Given the description of an element on the screen output the (x, y) to click on. 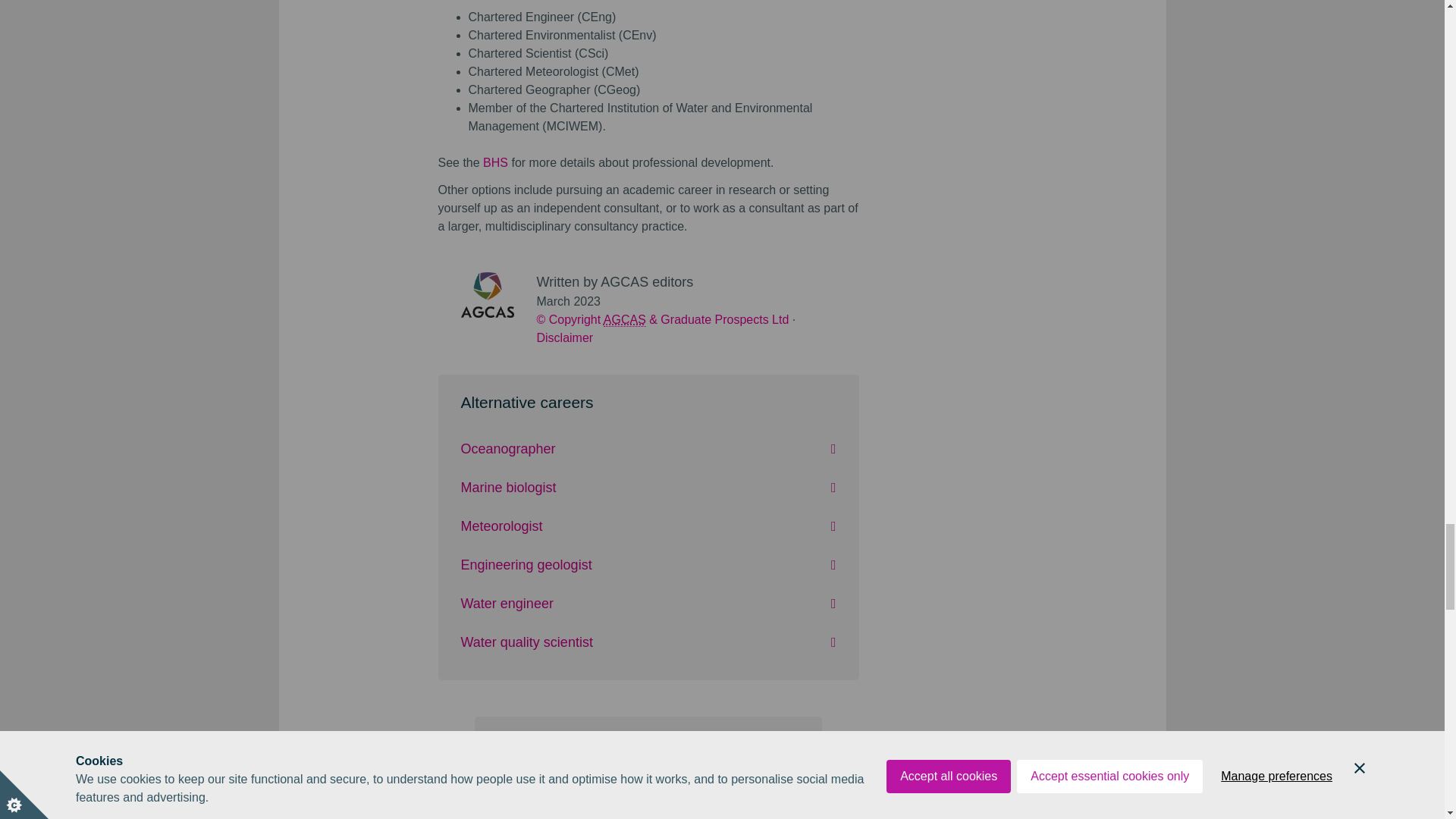
Association of Graduate Careers Advisory Services (625, 319)
